Given the description of an element on the screen output the (x, y) to click on. 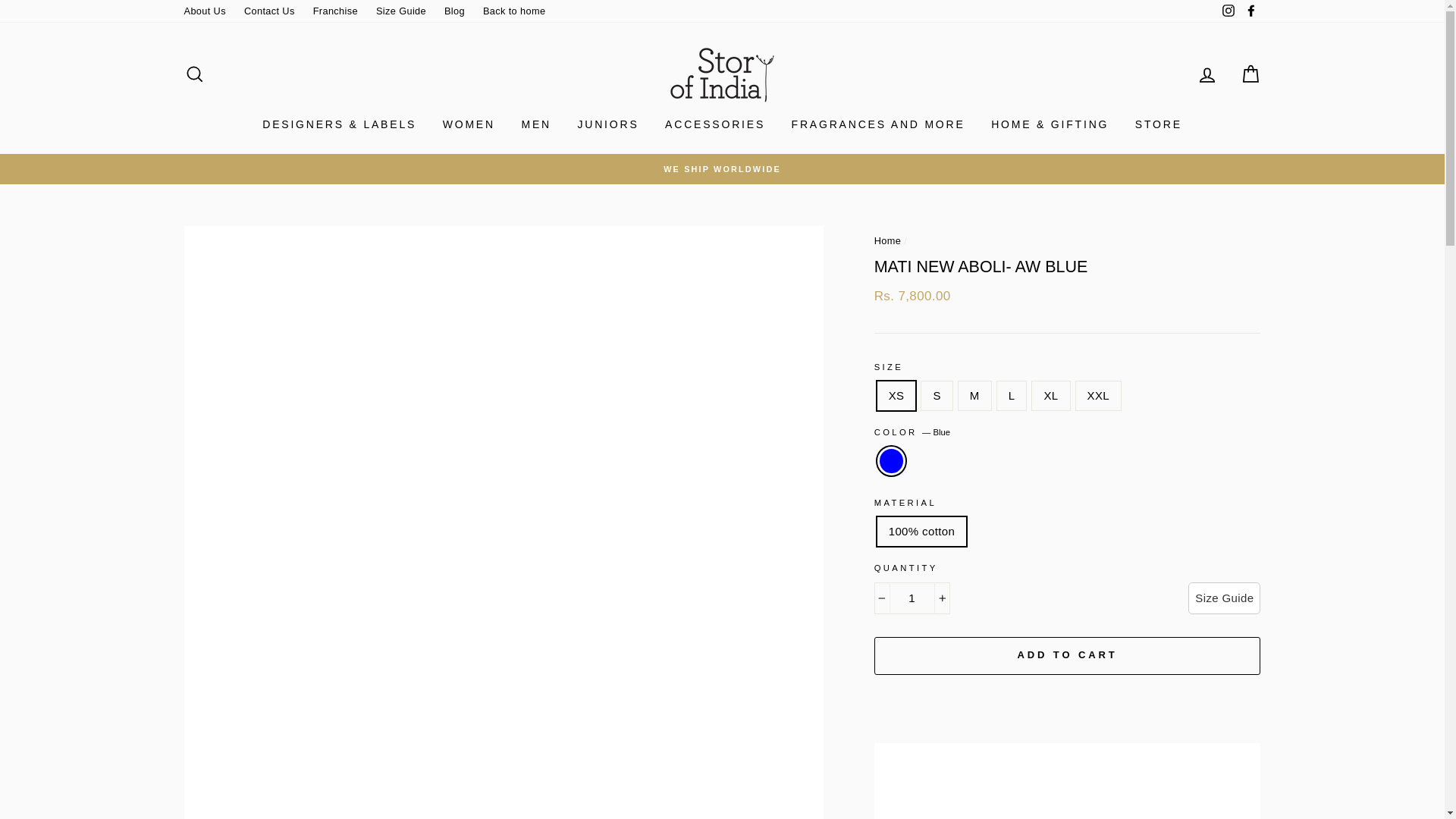
Size Chart (1224, 598)
Story Of India on Instagram (1228, 11)
Back to the frontpage (888, 240)
Story Of India on Facebook (1250, 11)
1 (912, 598)
